Given the description of an element on the screen output the (x, y) to click on. 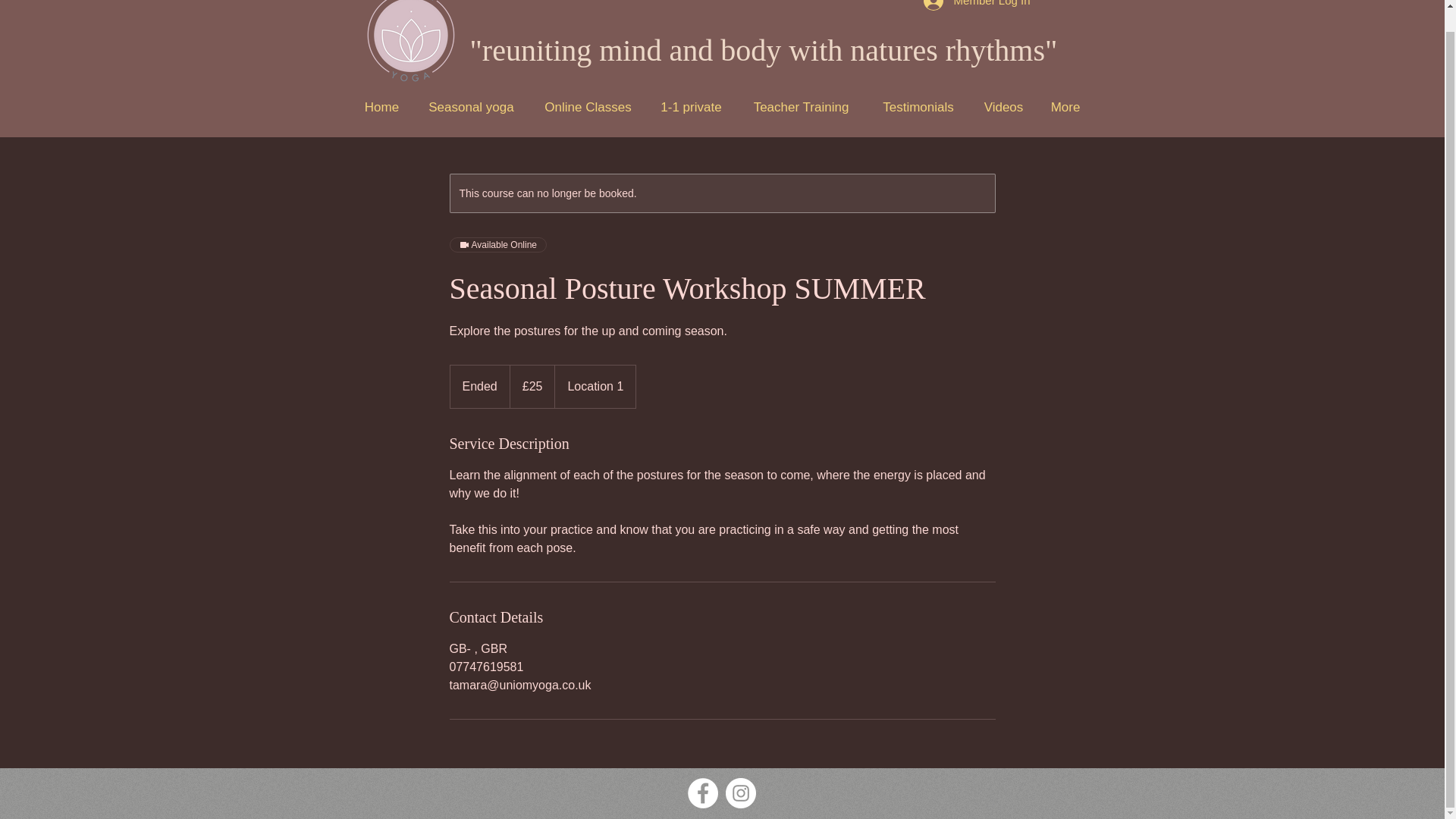
Videos (1003, 107)
Teacher Training (800, 107)
Online Classes (587, 107)
Seasonal yoga (470, 107)
1-1 private (690, 107)
Testimonials (917, 107)
Home (381, 107)
Member Log In (976, 7)
